Given the description of an element on the screen output the (x, y) to click on. 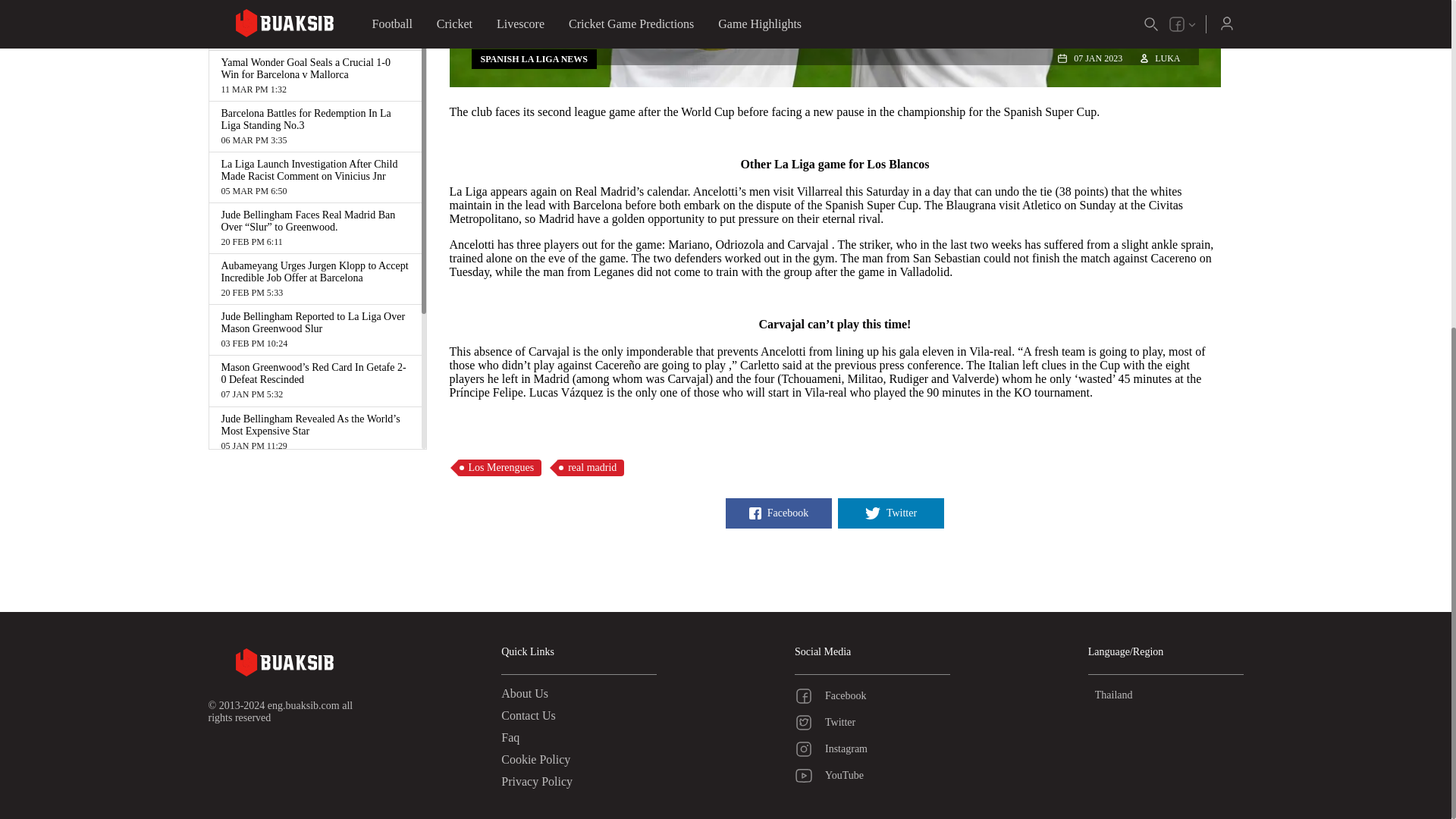
real madrid (590, 467)
Los Merengues (499, 467)
